Given the description of an element on the screen output the (x, y) to click on. 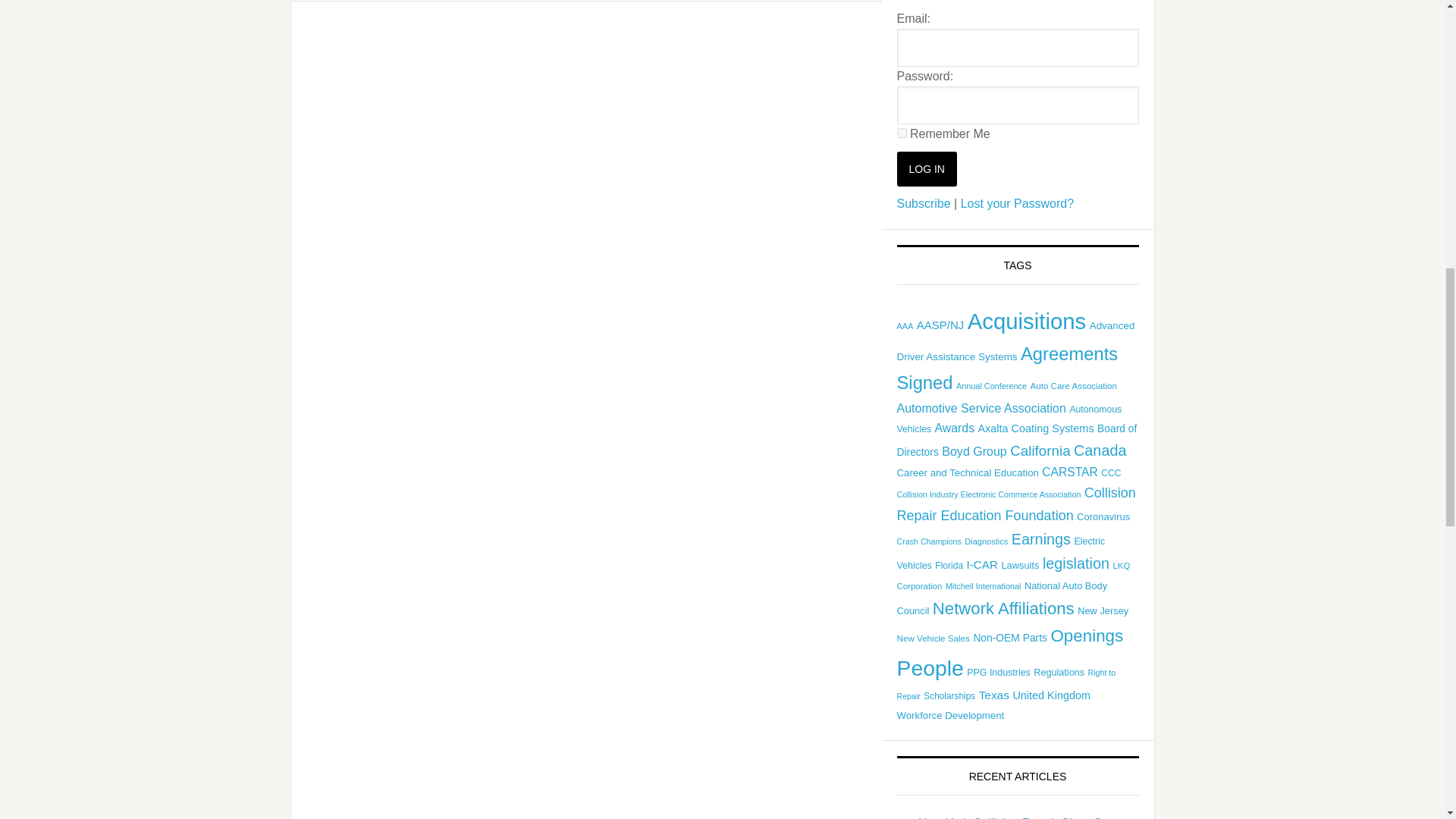
Axalta Coating Systems (1036, 428)
Awards (954, 427)
Autonomous Vehicles (1008, 419)
Career and Technical Education (967, 472)
CCC (1110, 472)
Log In (926, 168)
Auto Care Association (1072, 385)
Board of Directors (1016, 439)
forever (900, 132)
Subscribe (923, 203)
